Given the description of an element on the screen output the (x, y) to click on. 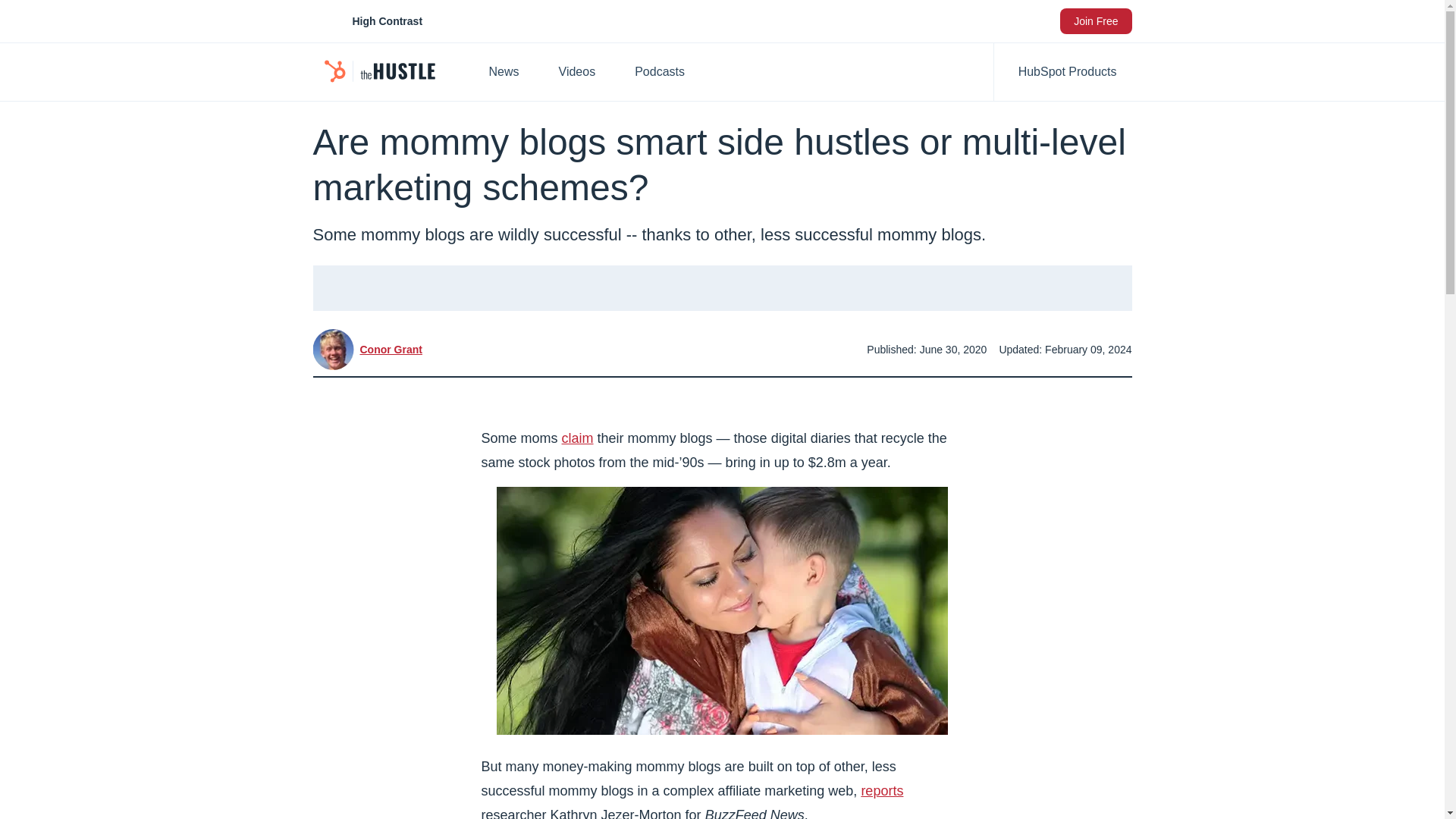
Join Free (1095, 21)
News (511, 71)
Podcasts (738, 71)
Videos (585, 71)
HubSpot Products (1063, 71)
High Contrast (370, 21)
